Given the description of an element on the screen output the (x, y) to click on. 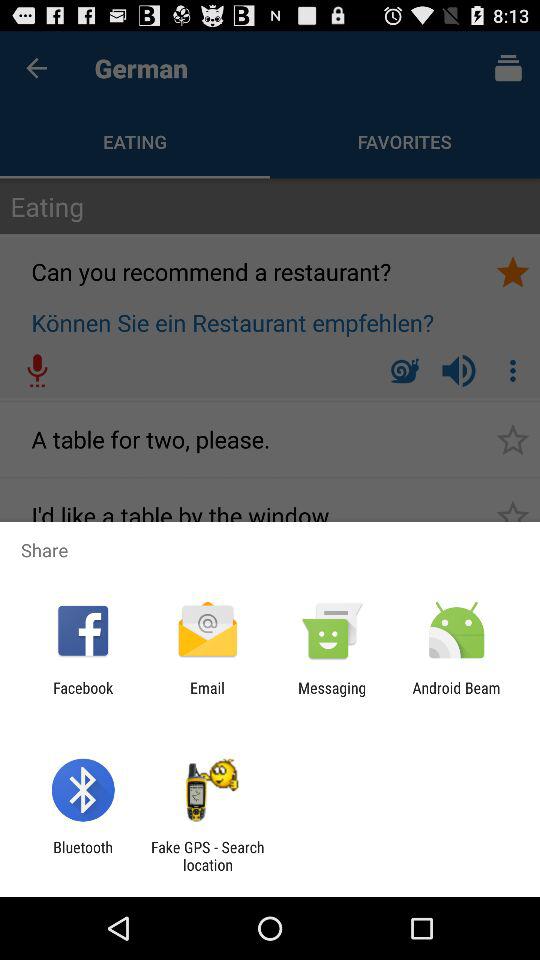
open the app next to email (83, 696)
